Given the description of an element on the screen output the (x, y) to click on. 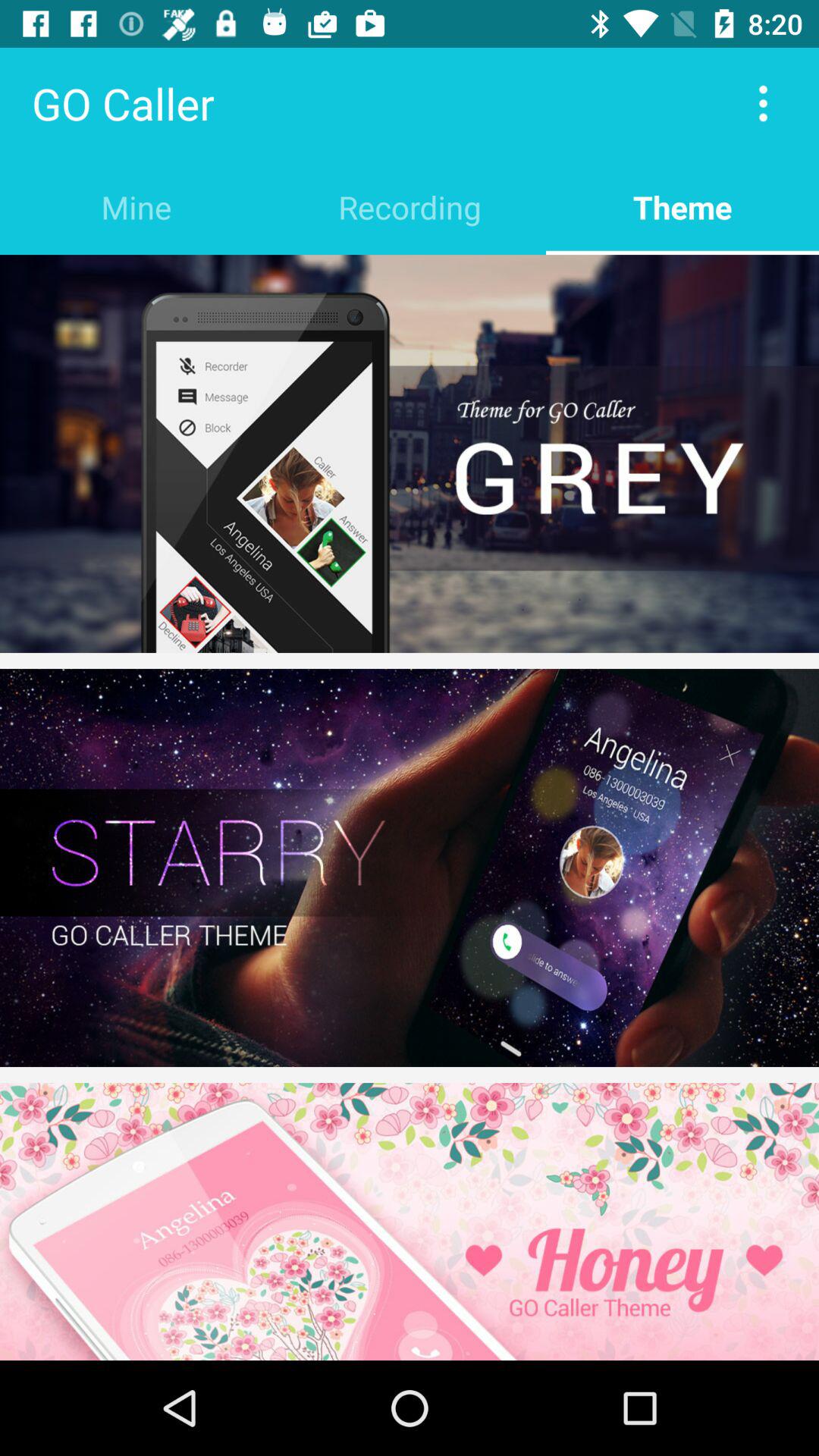
cell theme (409, 453)
